Given the description of an element on the screen output the (x, y) to click on. 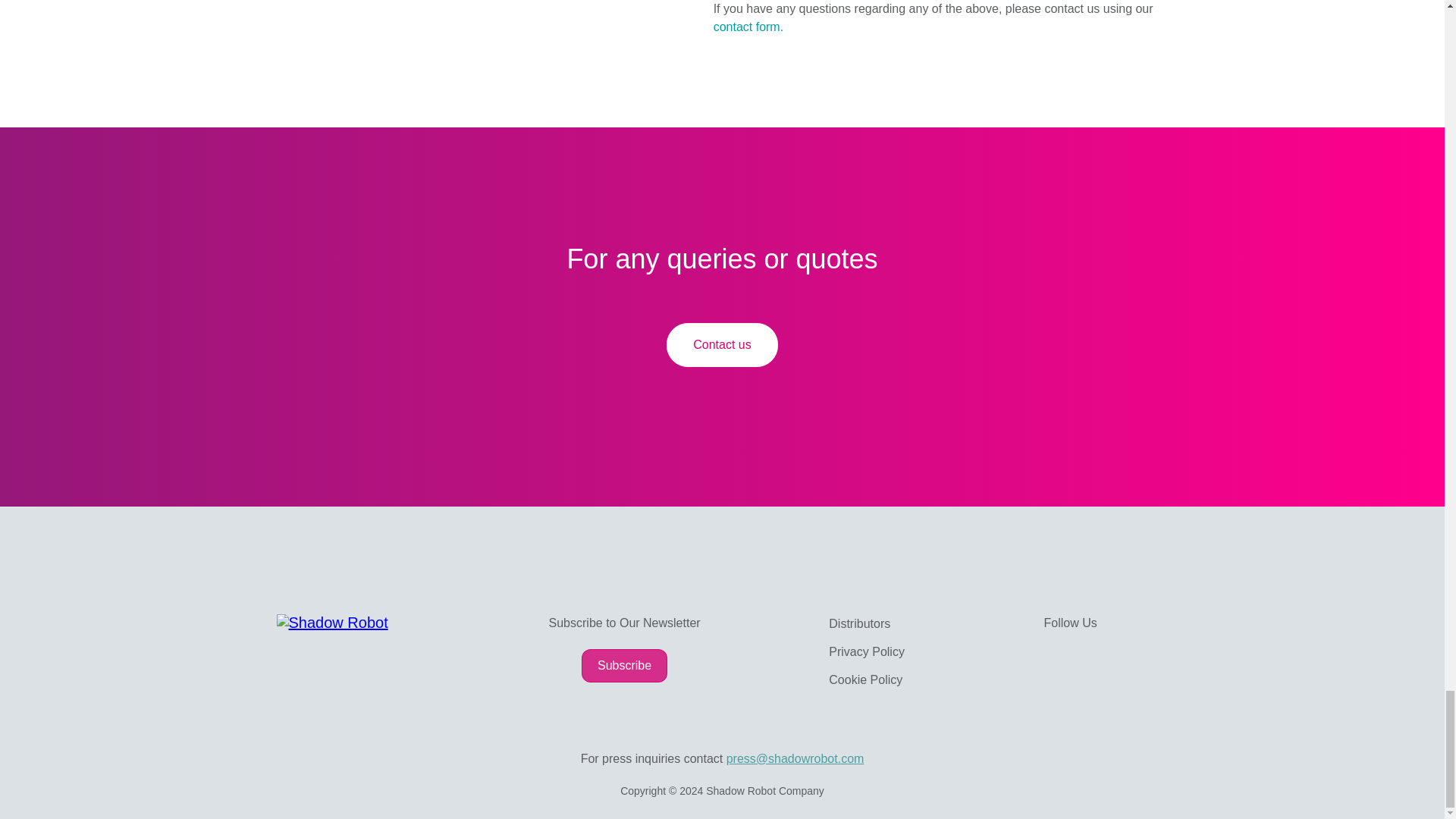
Contact us (721, 344)
contact form. (748, 26)
